Given the description of an element on the screen output the (x, y) to click on. 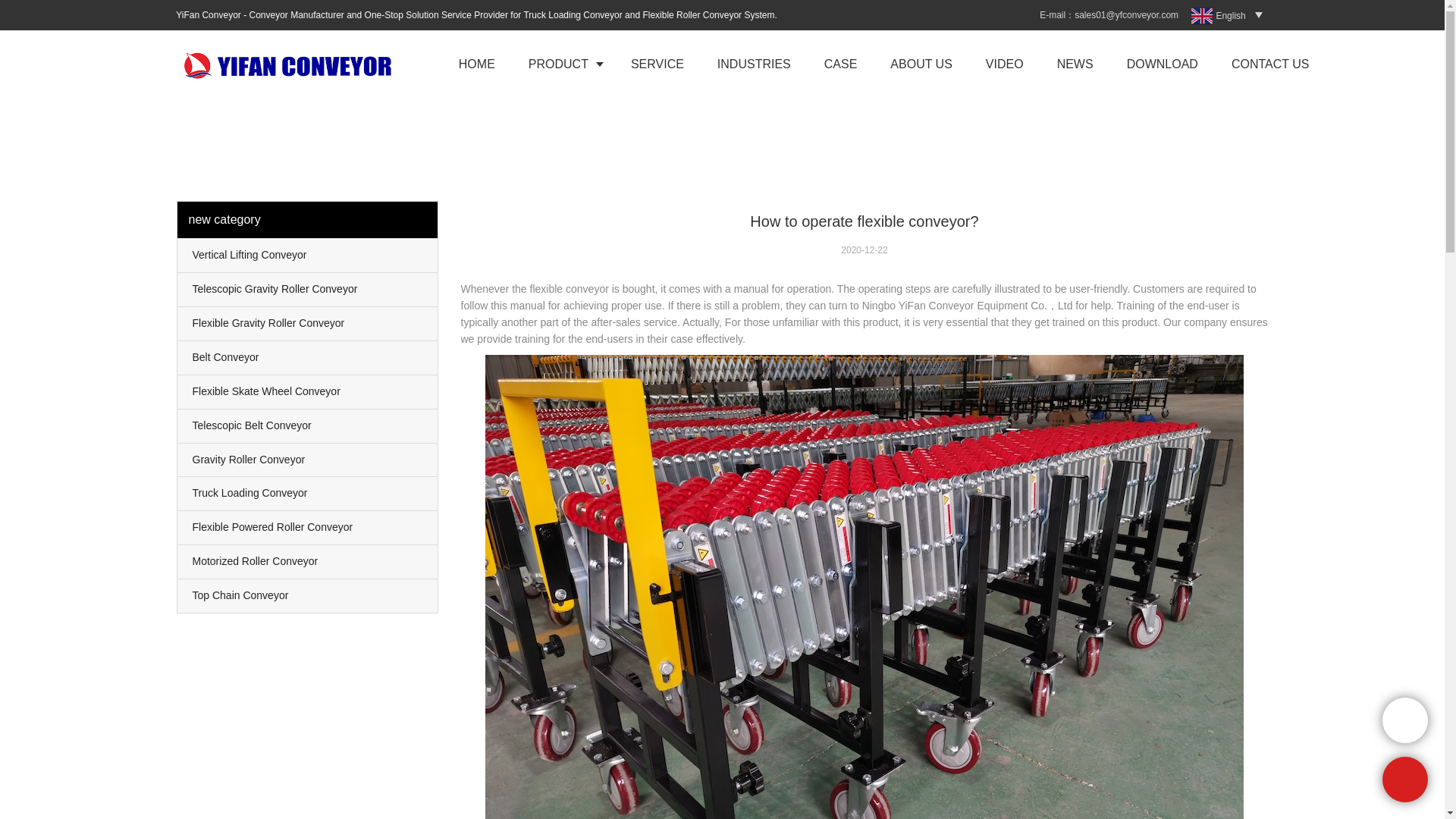
Telescopic Gravity Roller Conveyor (307, 289)
Vertical Lifting Conveyor (307, 255)
ABOUT US (921, 64)
Gravity Roller Conveyor (307, 459)
HOME (477, 64)
INDUSTRIES (754, 64)
VIDEO (1005, 64)
Telescopic Belt Conveyor (307, 426)
Flexible Gravity Roller Conveyor (307, 323)
PRODUCT (563, 64)
